Given the description of an element on the screen output the (x, y) to click on. 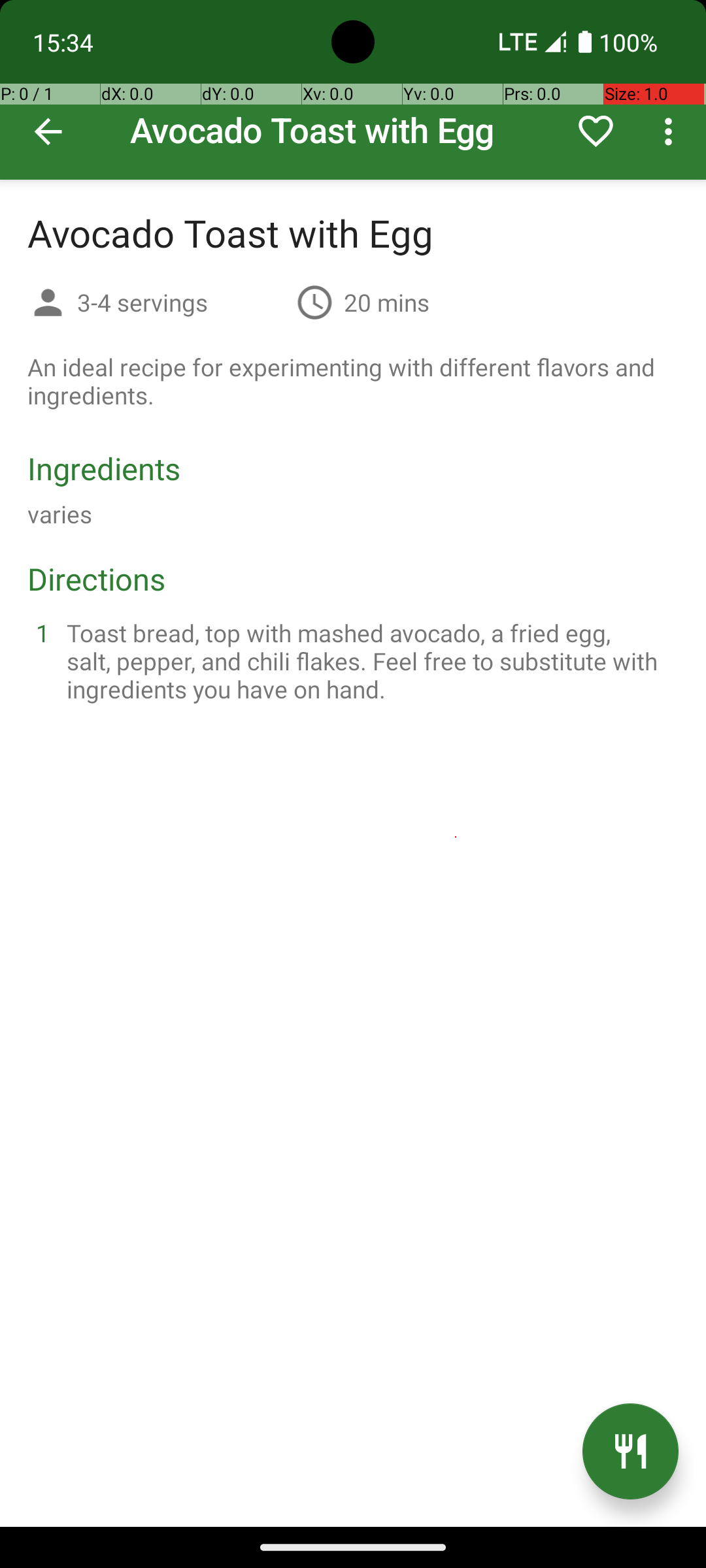
varies Element type: android.widget.TextView (59, 513)
